Given the description of an element on the screen output the (x, y) to click on. 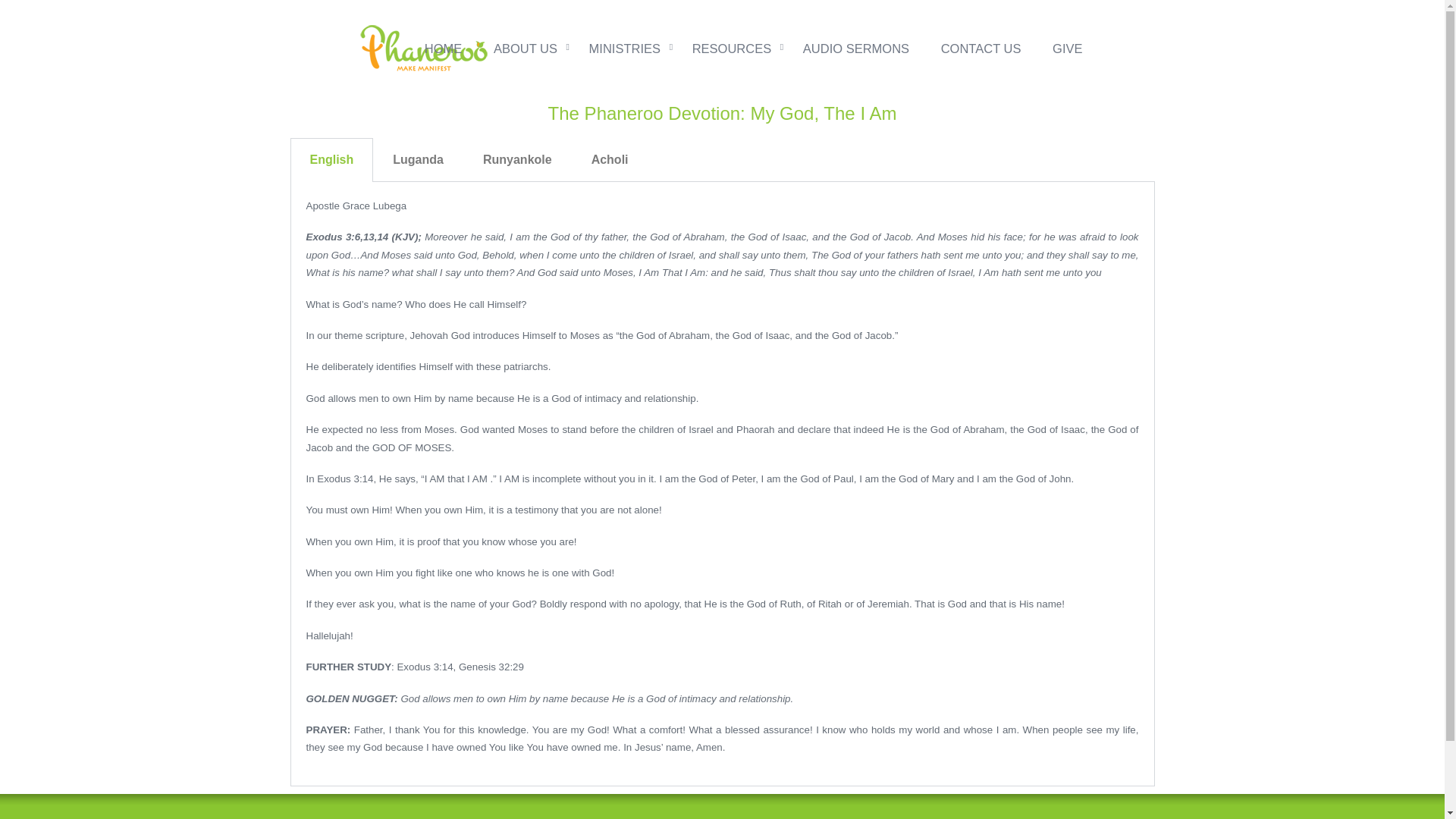
MINISTRIES (624, 48)
ABOUT US (524, 48)
AUDIO SERMONS (855, 48)
CONTACT US (981, 48)
GIVE (1067, 48)
HOME (442, 48)
RESOURCES (732, 48)
